Given the description of an element on the screen output the (x, y) to click on. 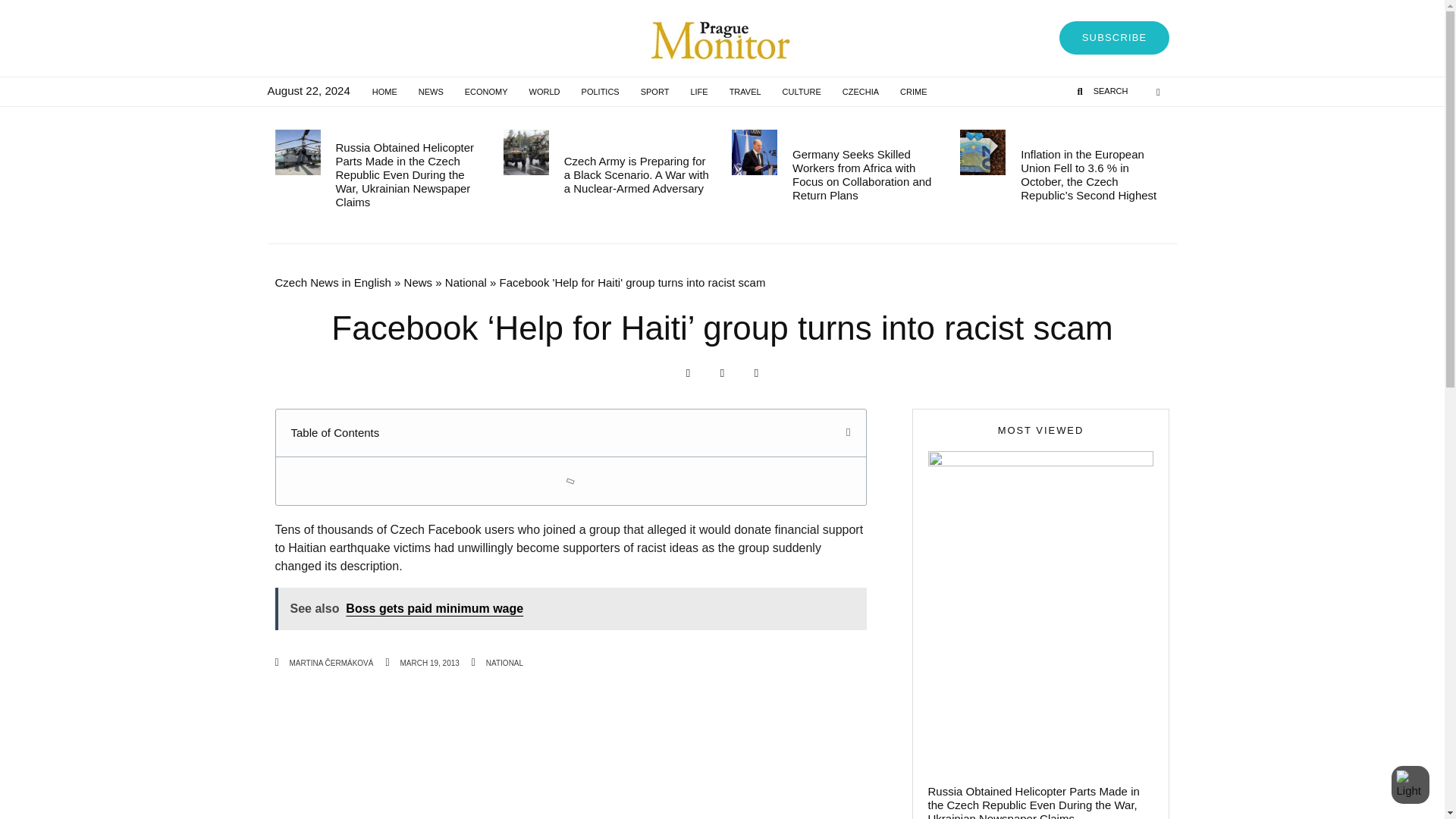
WORLD (544, 91)
CZECHIA (860, 91)
SPORT (654, 91)
LIFE (698, 91)
CULTURE (801, 91)
SUBSCRIBE (1114, 37)
ECONOMY (486, 91)
NEWS (430, 91)
Czech News in English (332, 282)
